Given the description of an element on the screen output the (x, y) to click on. 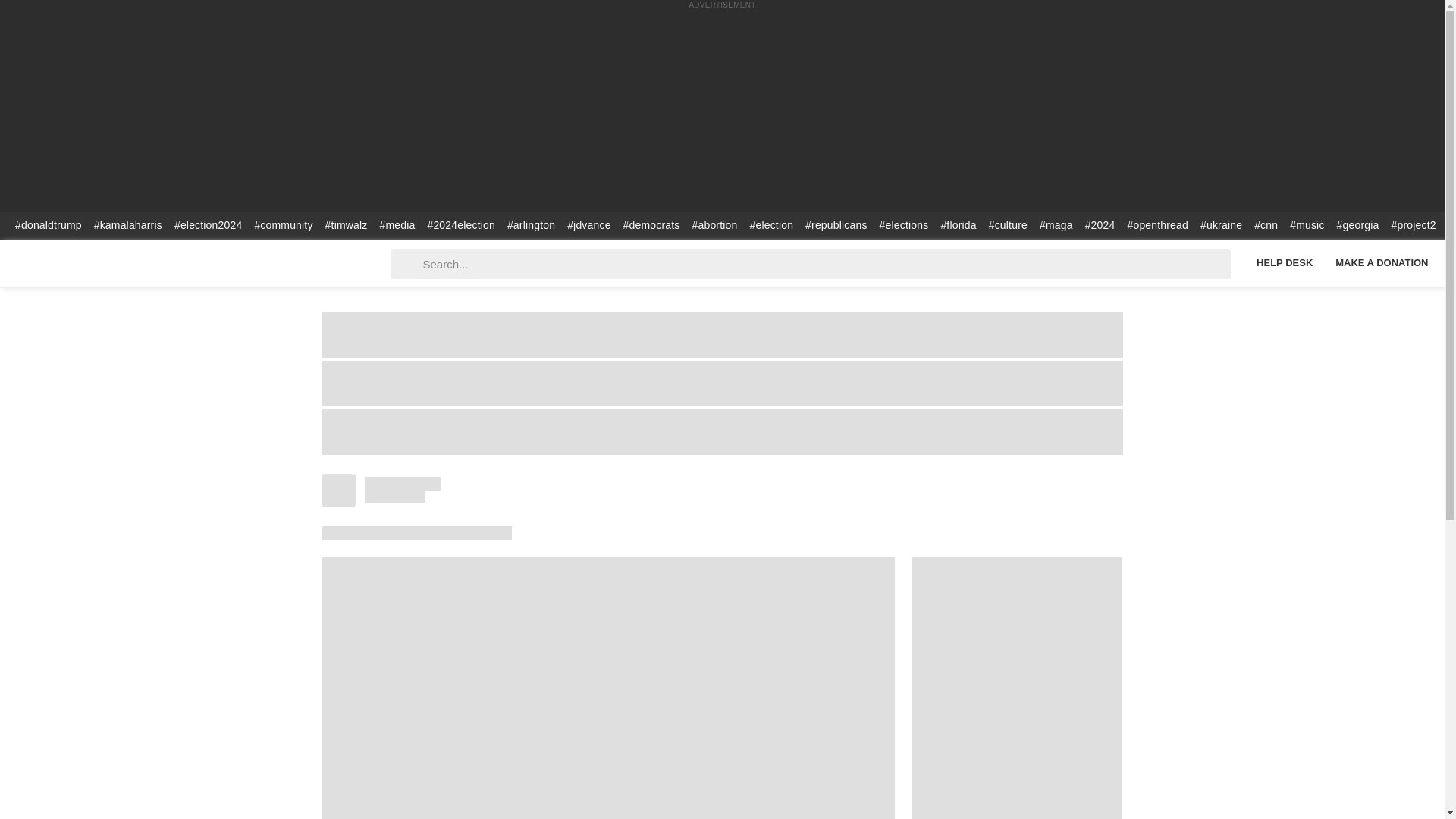
Make a Donation (1381, 262)
Help Desk (1283, 262)
MAKE A DONATION (1381, 262)
